Given the description of an element on the screen output the (x, y) to click on. 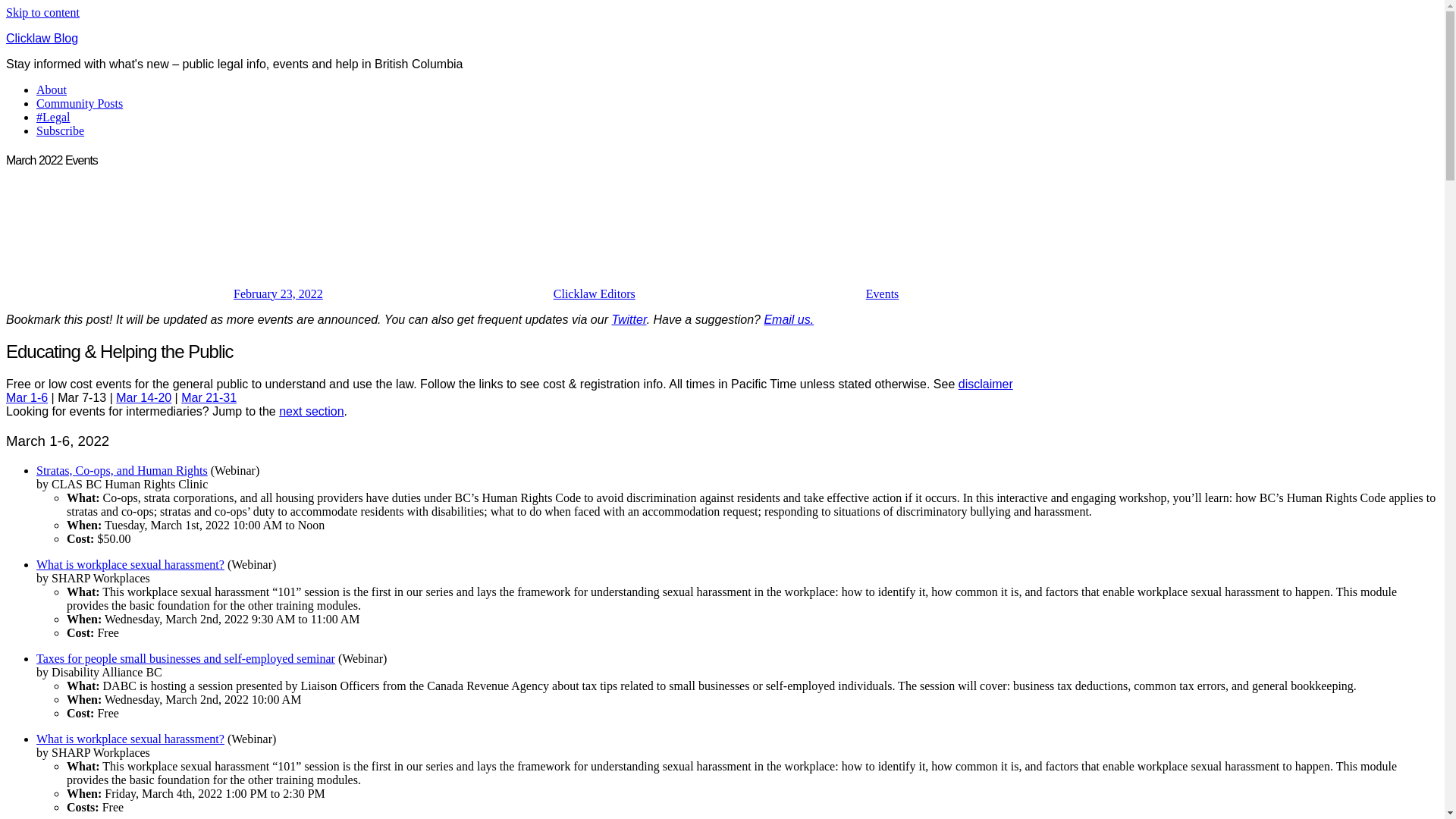
Subscribe Element type: text (60, 130)
Mar 14-20 Element type: text (143, 397)
Mar 1-6 Element type: text (26, 397)
Clicklaw Blog Element type: text (42, 37)
Stratas, Co-ops, and Human Rights Element type: text (121, 470)
disclaimer Element type: text (985, 383)
Mar 21-31 Element type: text (208, 397)
#Legal Element type: text (52, 116)
February 23, 2022 Element type: text (278, 293)
Twitter Element type: text (628, 319)
next section Element type: text (311, 410)
About Element type: text (51, 89)
Taxes for people small businesses and self-employed seminar Element type: text (185, 658)
Skip to content Element type: text (42, 12)
What is workplace sexual harassment? Element type: text (130, 738)
Events Element type: text (882, 293)
Clicklaw Editors Element type: text (594, 293)
What is workplace sexual harassment? Element type: text (130, 564)
Community Posts Element type: text (79, 103)
Email us. Element type: text (788, 319)
